Given the description of an element on the screen output the (x, y) to click on. 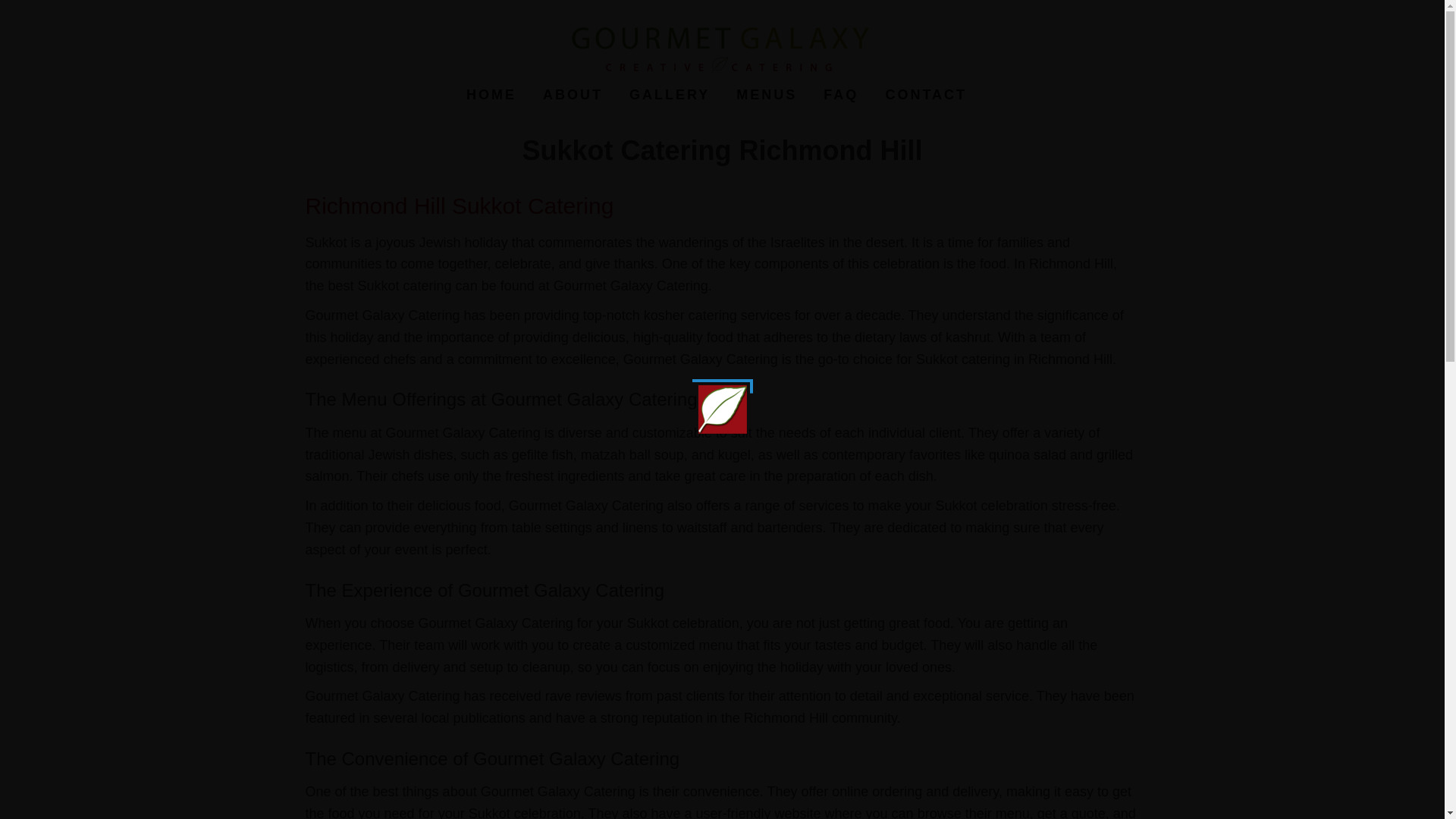
CONTACT (925, 94)
GALLERY (668, 94)
FAQ (840, 94)
MENUS (766, 94)
ABOUT (572, 94)
HOME (490, 94)
Richmond Hill Sukkot Catering  (462, 205)
